Given the description of an element on the screen output the (x, y) to click on. 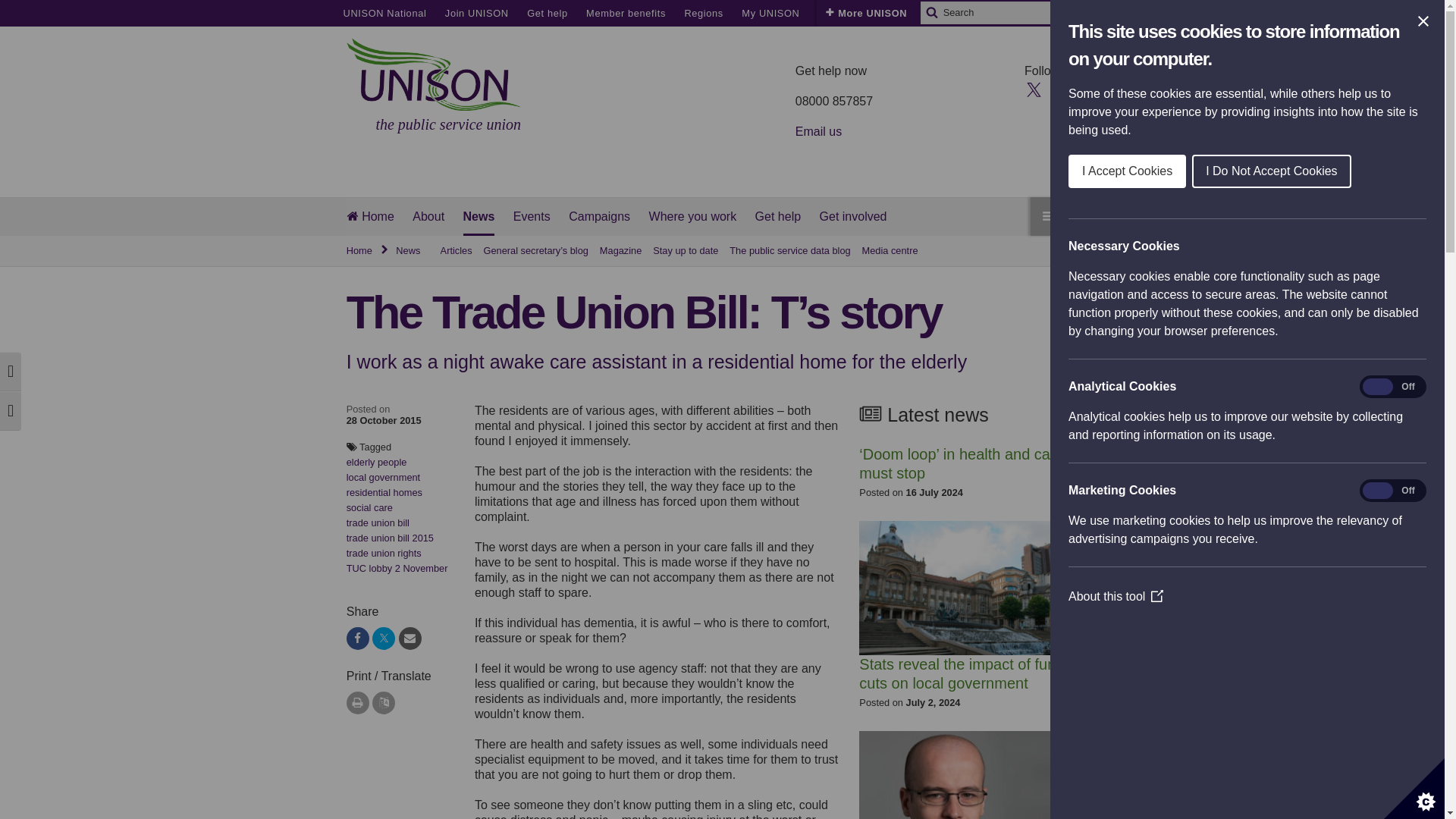
Facebook (1060, 88)
Email us (817, 131)
Regions (703, 13)
Other sites (844, 13)
Join UNISON (476, 13)
Member benefits (625, 13)
Get help (547, 13)
I Accept Cookies (1360, 171)
Search (931, 12)
More UNISON (865, 13)
My UNISON (770, 13)
